Given the description of an element on the screen output the (x, y) to click on. 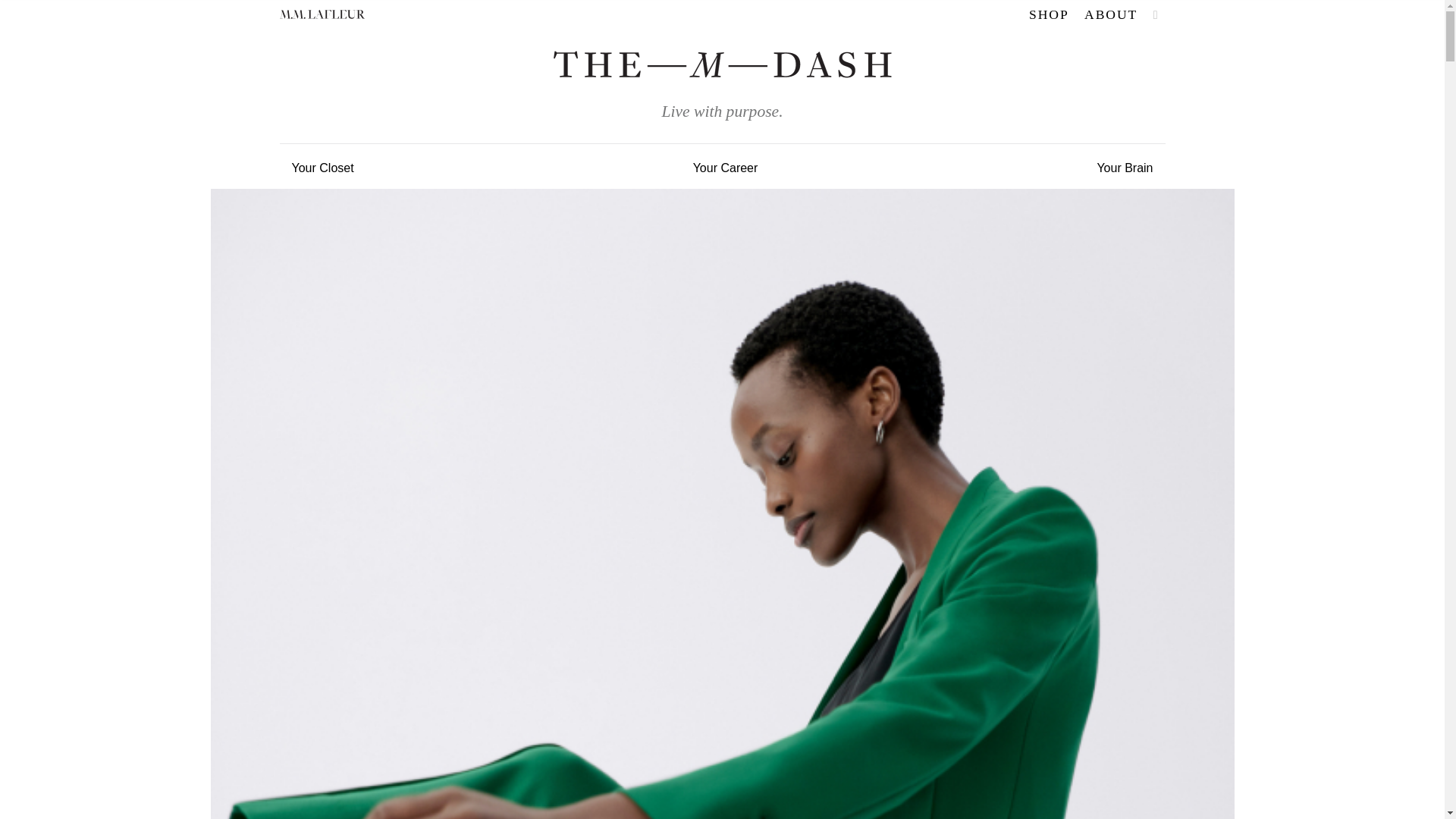
SHOP (1049, 14)
Search (1042, 61)
ABOUT (1110, 14)
Your Brain (1124, 166)
Your Career (725, 166)
SEARCH (1156, 15)
Your Closet (322, 166)
M.M.LaFleur (321, 13)
